Given the description of an element on the screen output the (x, y) to click on. 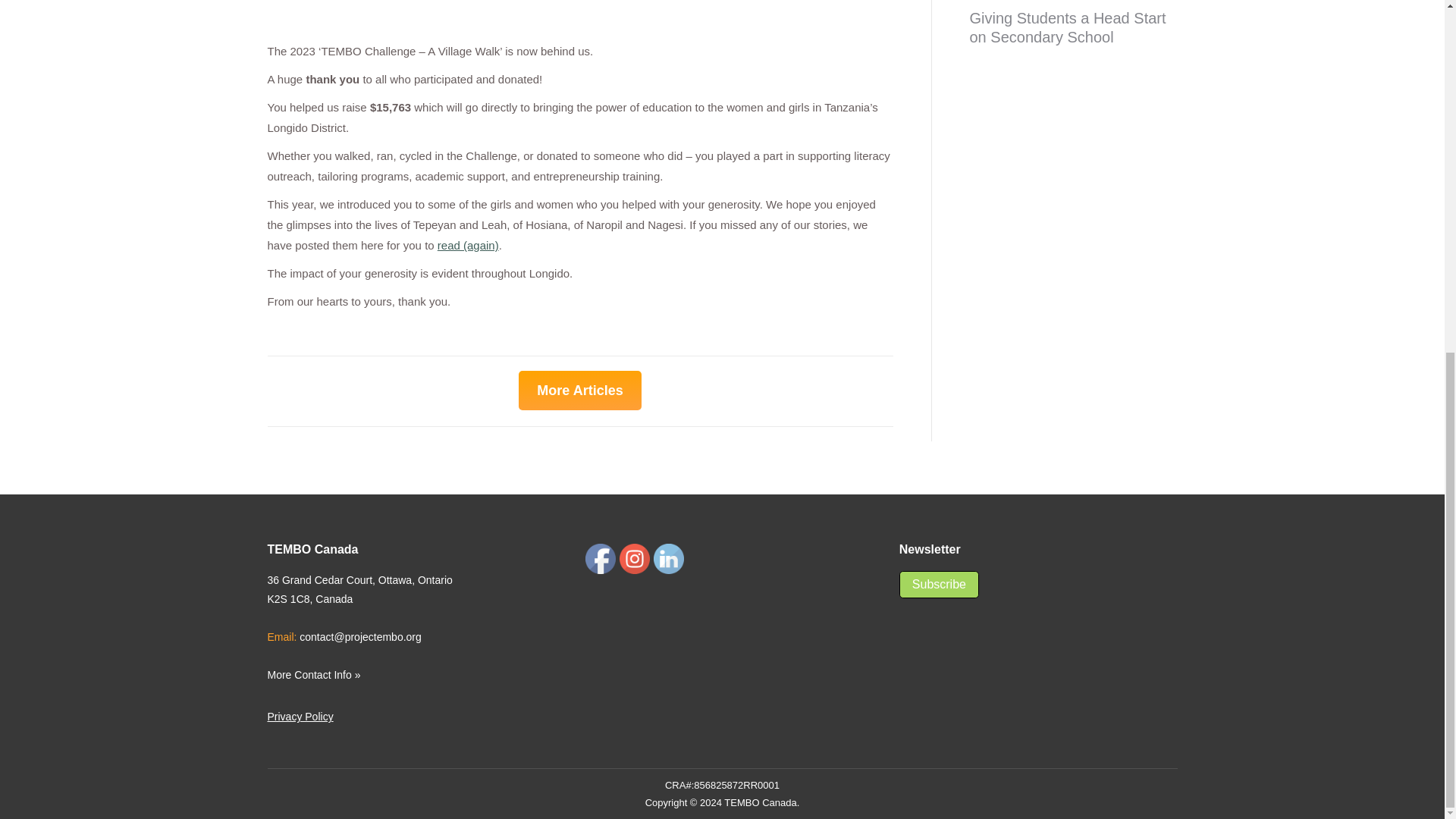
Instagram (634, 558)
Facebook (600, 558)
